Given the description of an element on the screen output the (x, y) to click on. 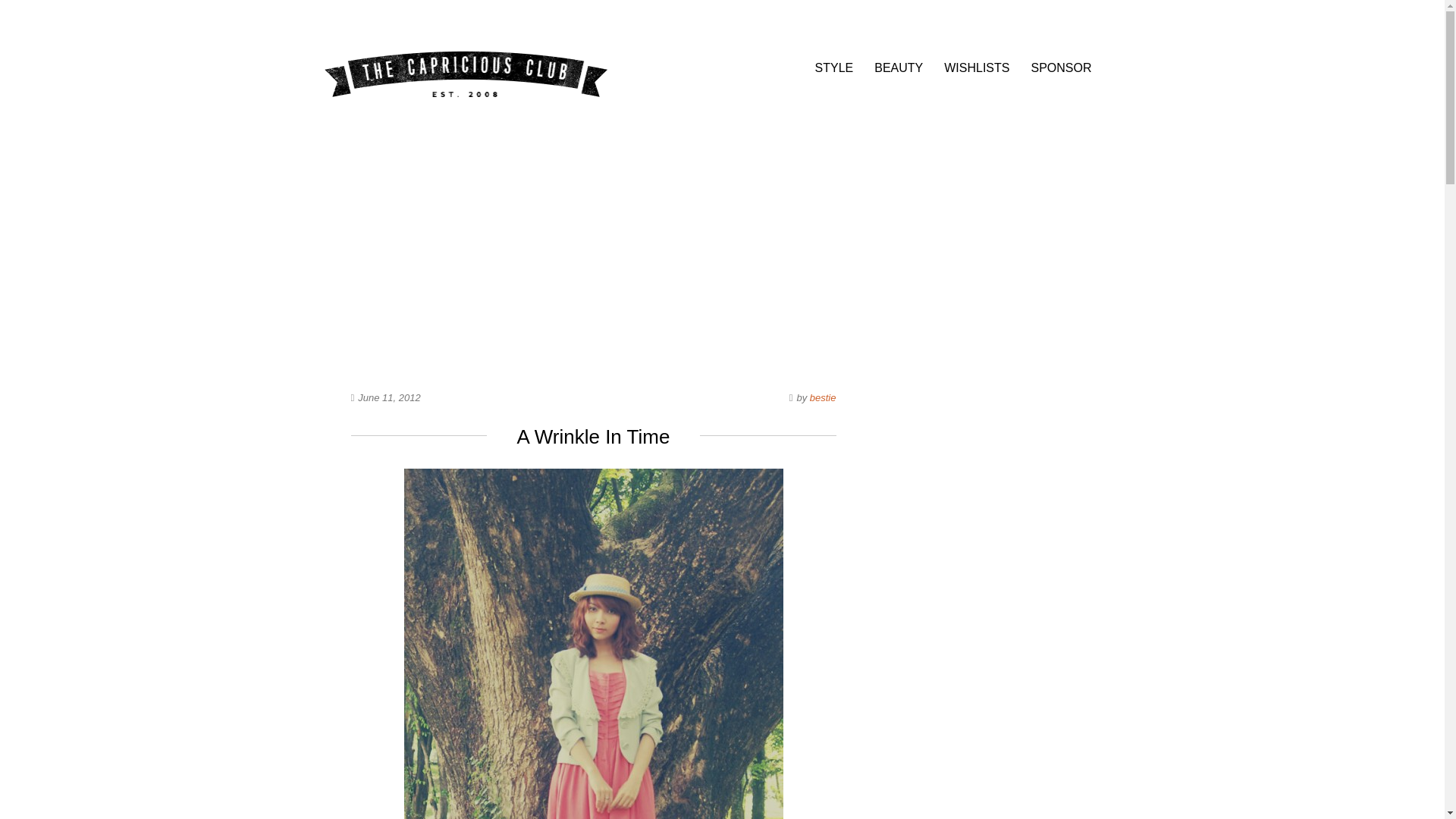
WISHLISTS (976, 68)
bestie (822, 397)
SPONSOR (1060, 68)
BEAUTY (899, 68)
STYLE (834, 68)
Advertisement (593, 242)
June 11, 2012 (389, 397)
